Given the description of an element on the screen output the (x, y) to click on. 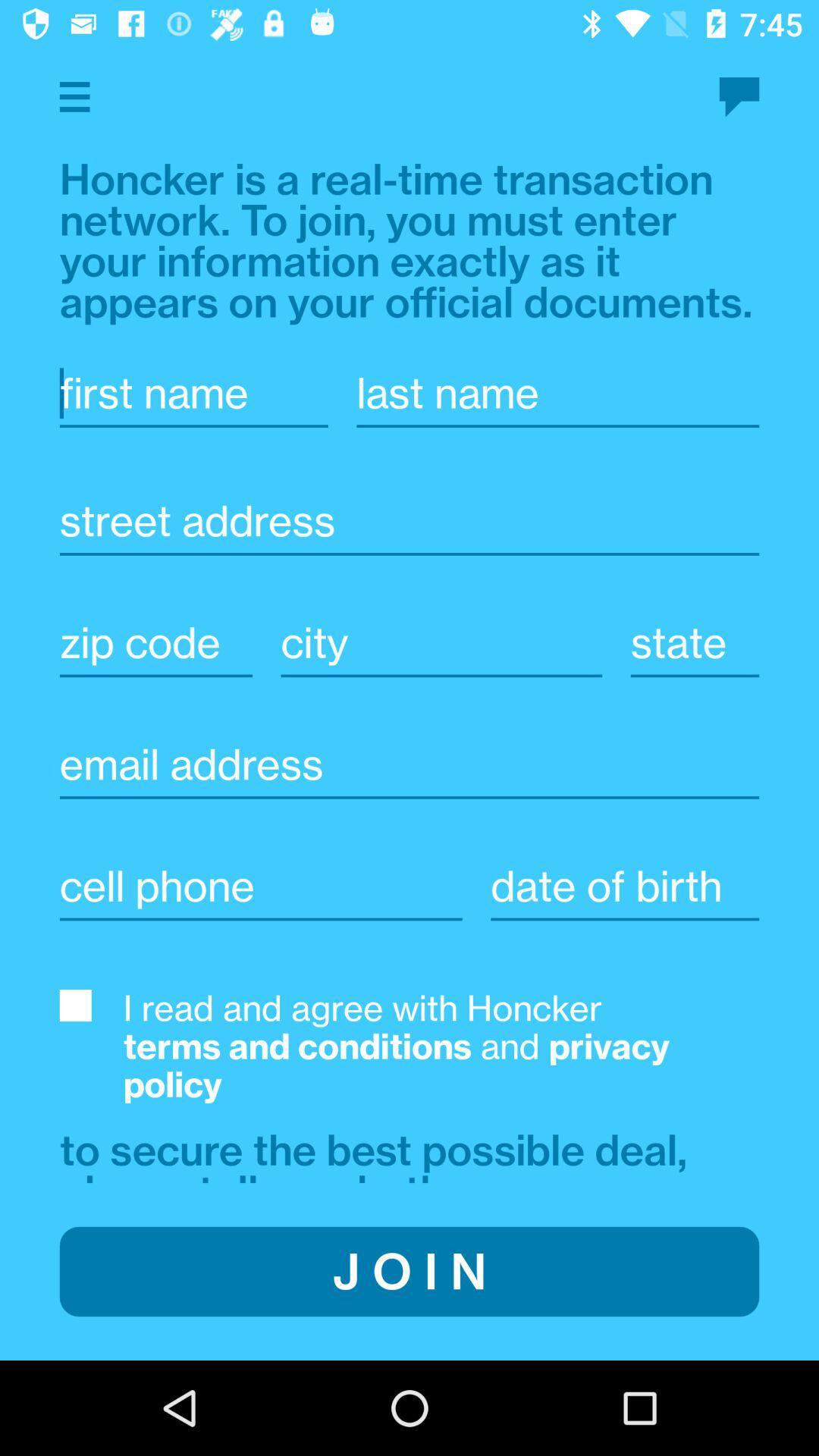
insert date of birth (624, 886)
